Given the description of an element on the screen output the (x, y) to click on. 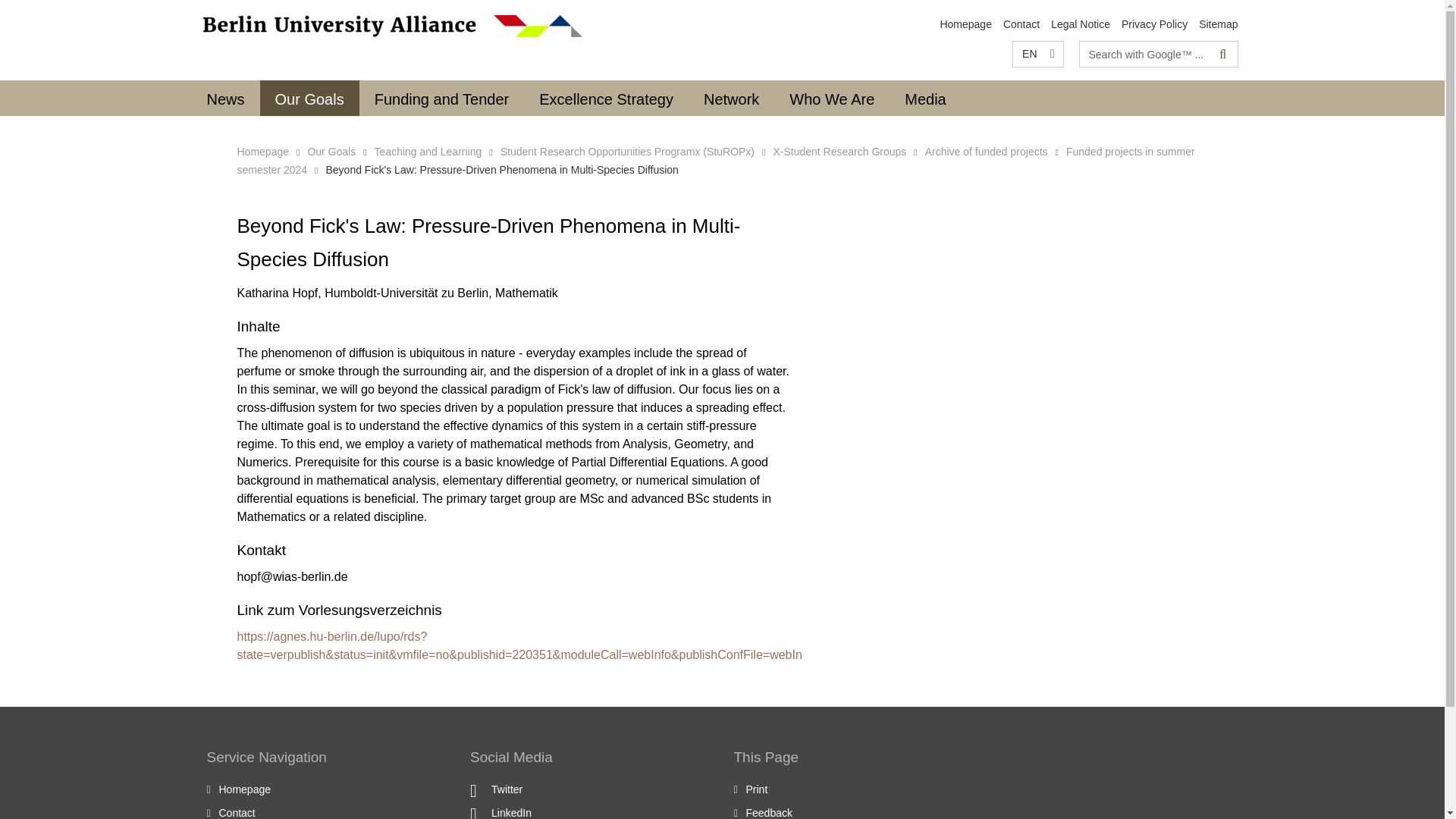
Our Goals (309, 98)
News (224, 98)
To the Homepage of: Berlin University Alliance (965, 24)
Privacy Policy (1154, 24)
Privacy Policy (1154, 24)
Legal Notice (1080, 24)
To the Homepage of: Berlin University Alliance (244, 788)
Print this page (756, 788)
To the Homepage of: Berlin University Alliance (392, 25)
Sitemap (1217, 24)
Homepage (965, 24)
Please enter search term here (1144, 53)
Contact (1021, 24)
